Given the description of an element on the screen output the (x, y) to click on. 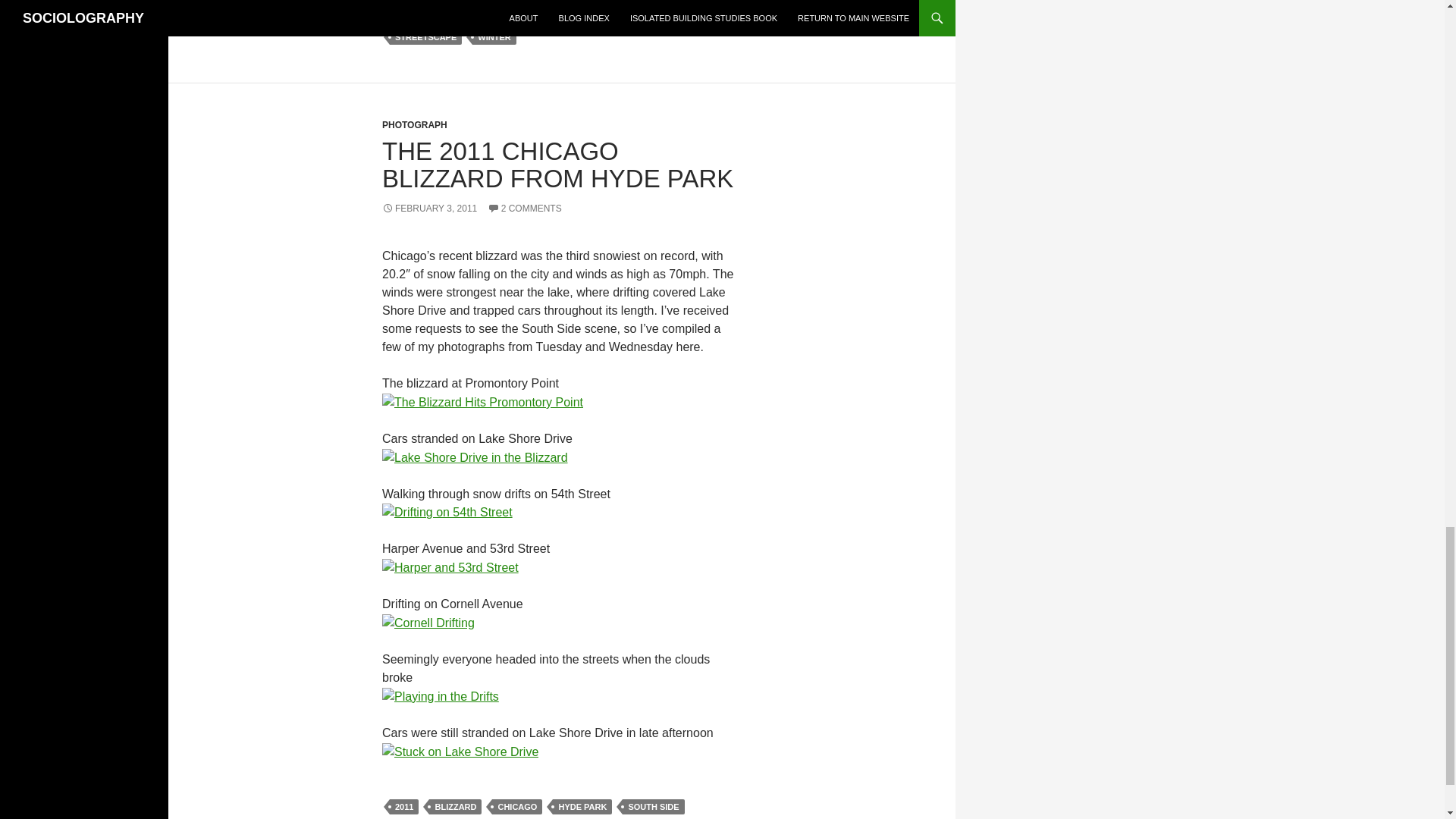
PHOTOGRAPH (413, 124)
SNOW (585, 18)
Stuck on Lake Shore Drive by metroblossom, on Flickr (459, 750)
SNOWFALL (643, 18)
STREETSCAPE (425, 37)
Cornell Drifting by metroblossom, on Flickr (427, 621)
Lake Shore Drive in the Blizzard by metroblossom, on Flickr (474, 456)
WINTER (493, 37)
Harper and 53rd Street by metroblossom, on Flickr (449, 566)
Drifting on 54th Street by metroblossom, on Flickr (446, 512)
PILE (484, 18)
THE 2011 CHICAGO BLIZZARD FROM HYDE PARK (557, 164)
RECORD (534, 18)
MASSACHUSETTS (625, 4)
